Given the description of an element on the screen output the (x, y) to click on. 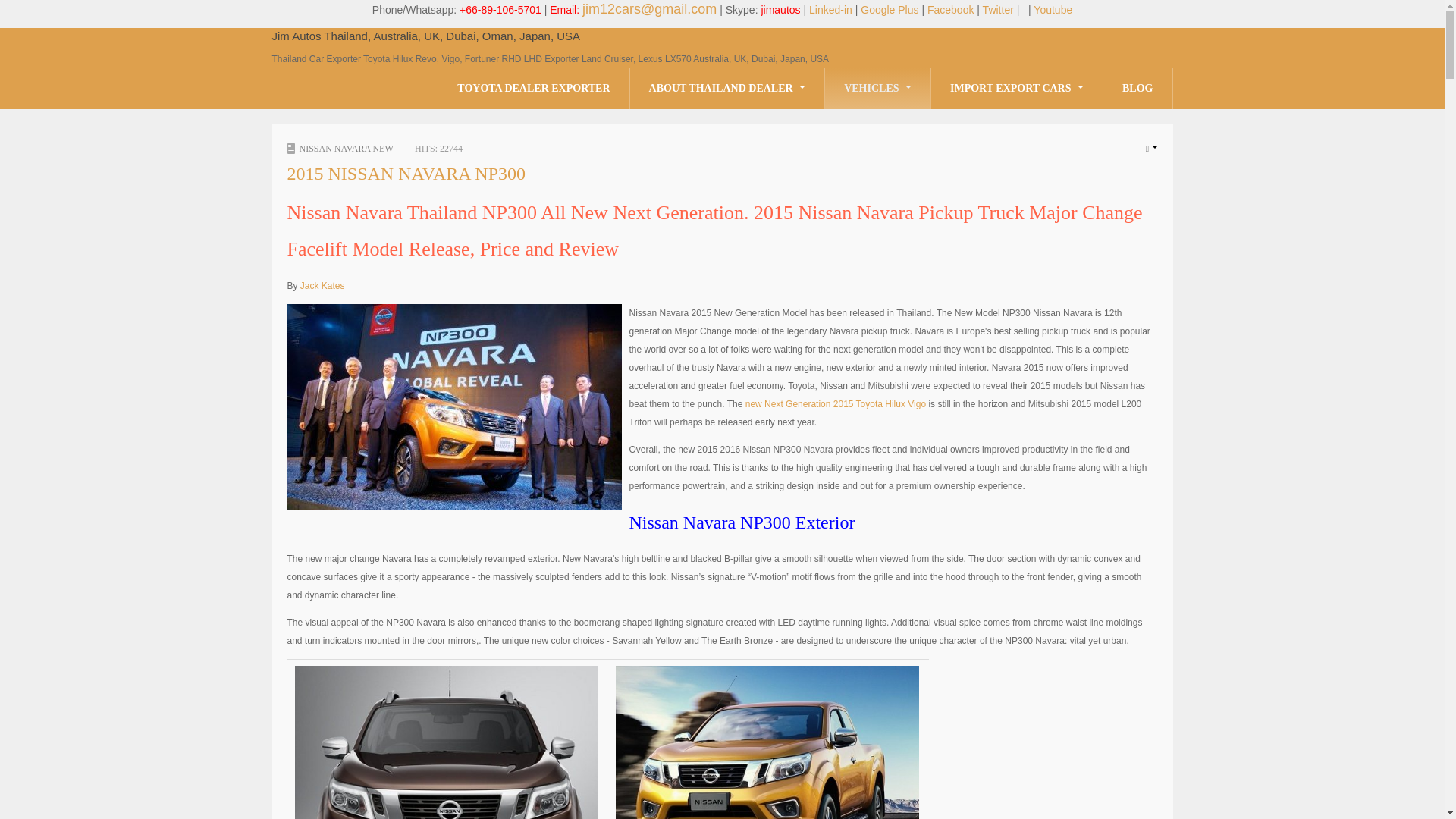
ABOUT THAILAND DEALER (727, 87)
Google Plus (889, 9)
Linked-in (830, 9)
Jim Autos Thailand, Australia, UK, Dubai, Oman, Japan, USA (424, 35)
Facebook (950, 9)
TOYOTA DEALER EXPORTER (533, 87)
Jim Autos Thailand, Australia, UK, Dubai, Oman, Japan, USA (424, 35)
Twitter (997, 9)
Youtube (1052, 9)
